Given the description of an element on the screen output the (x, y) to click on. 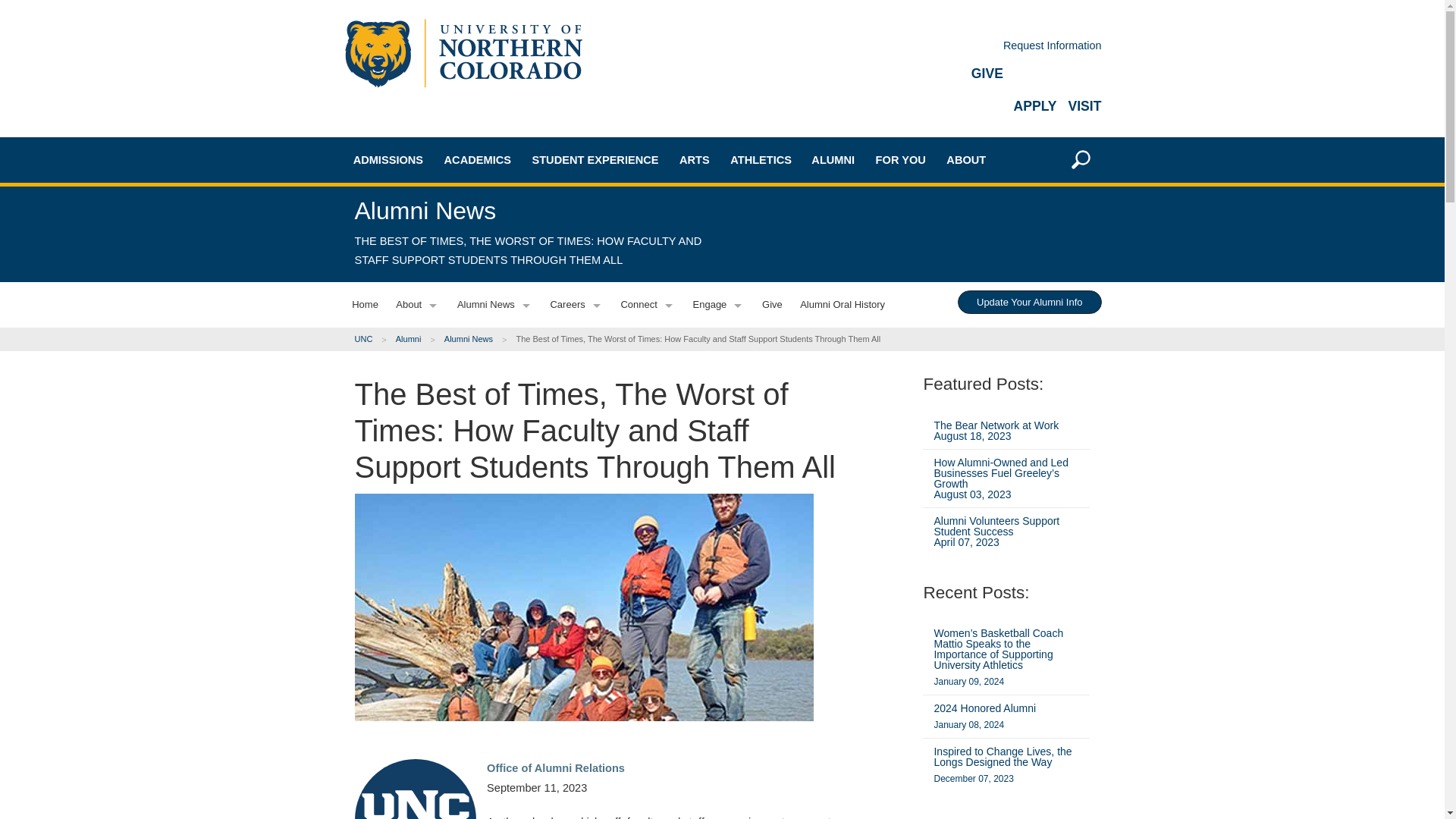
GIVE (987, 73)
First-Year (418, 228)
ADMISSIONS (387, 159)
ACADEMICS (477, 159)
Academic Overview (509, 207)
Departments and Colleges (509, 286)
Graduate (418, 281)
Request Information (1052, 45)
Extended Campus (418, 334)
VISIT (1083, 105)
Orientation (418, 509)
Undergraduate Programs (509, 233)
Schedule of Classes (509, 366)
Library (509, 446)
Transfer (418, 254)
